Given the description of an element on the screen output the (x, y) to click on. 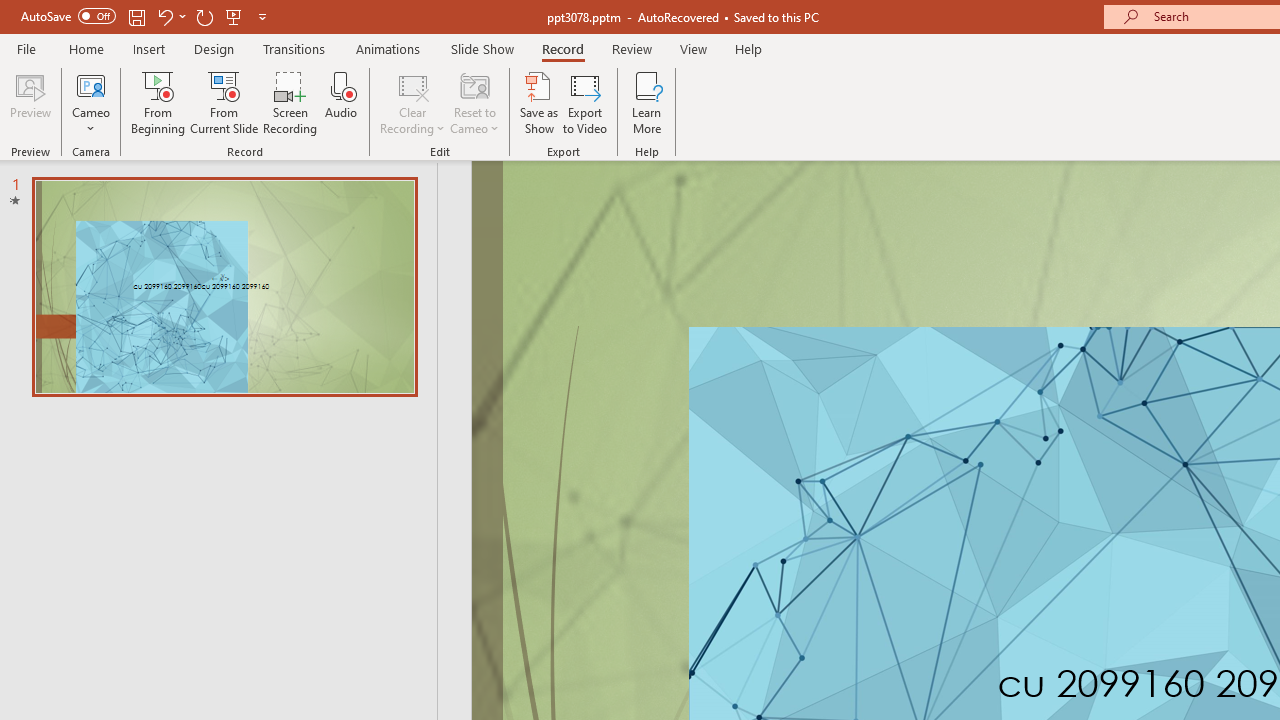
Export to Video (585, 102)
Audio (341, 102)
